Given the description of an element on the screen output the (x, y) to click on. 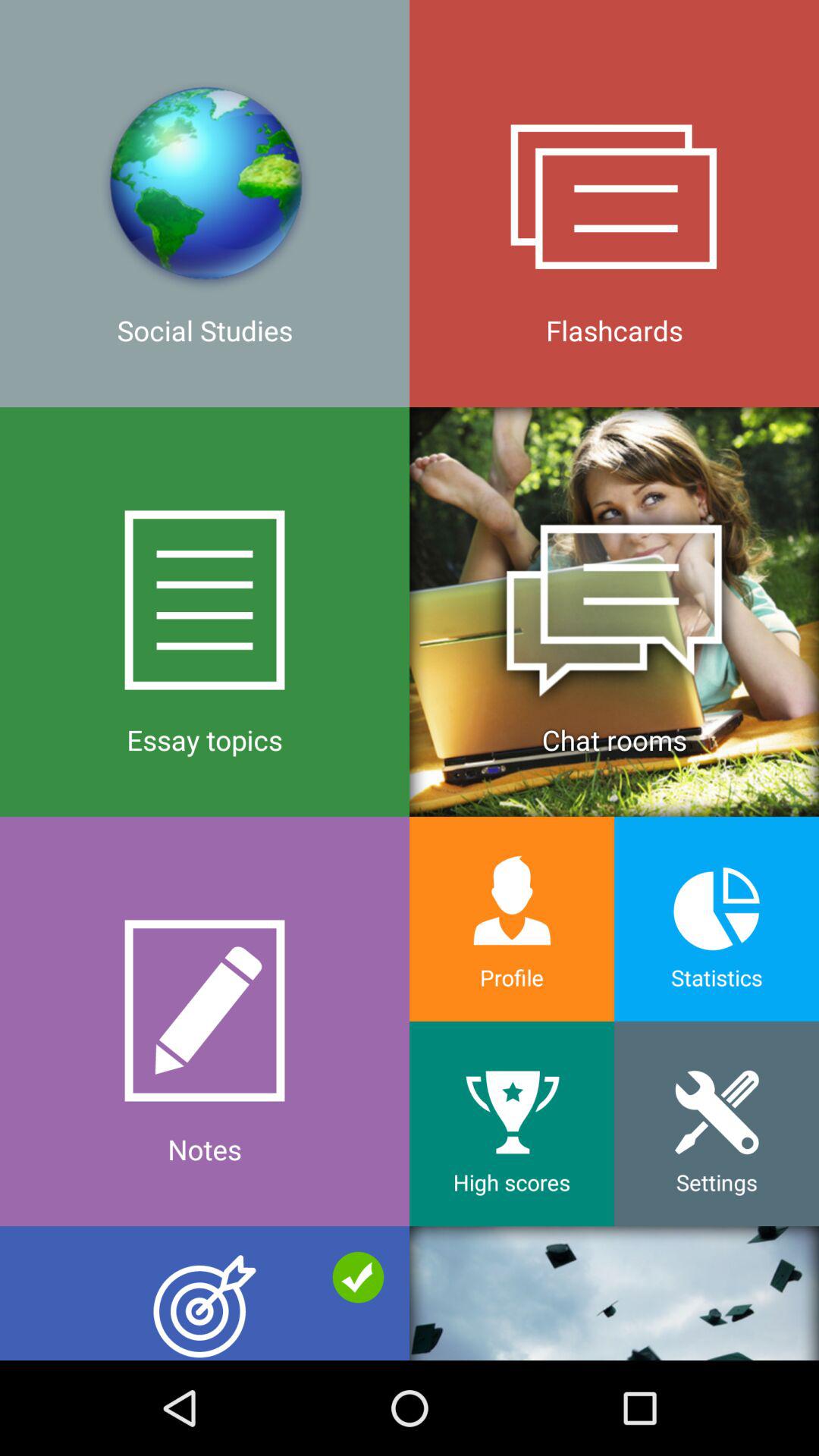
turn on item to the right of profile item (716, 1123)
